Given the description of an element on the screen output the (x, y) to click on. 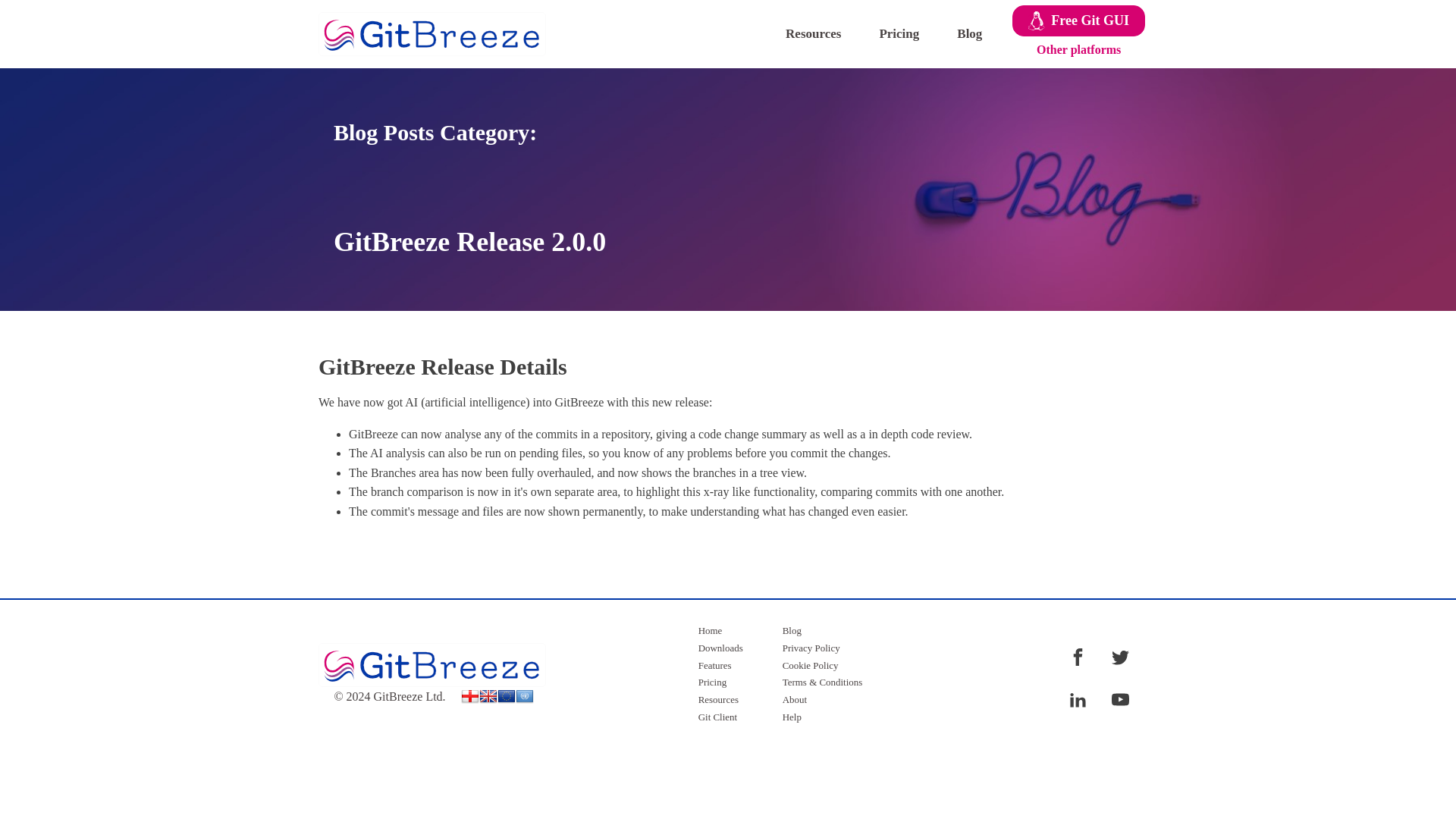
About (822, 700)
Pricing (720, 682)
Help (822, 717)
Features (720, 665)
Resources (823, 33)
Privacy Policy (822, 648)
Blog (980, 33)
Other platforms (1078, 49)
Cookie Policy (822, 665)
Blog (822, 630)
Home (720, 630)
Free Git GUI (1077, 20)
Pricing (909, 33)
Git Client (720, 717)
Downloads (720, 648)
